Given the description of an element on the screen output the (x, y) to click on. 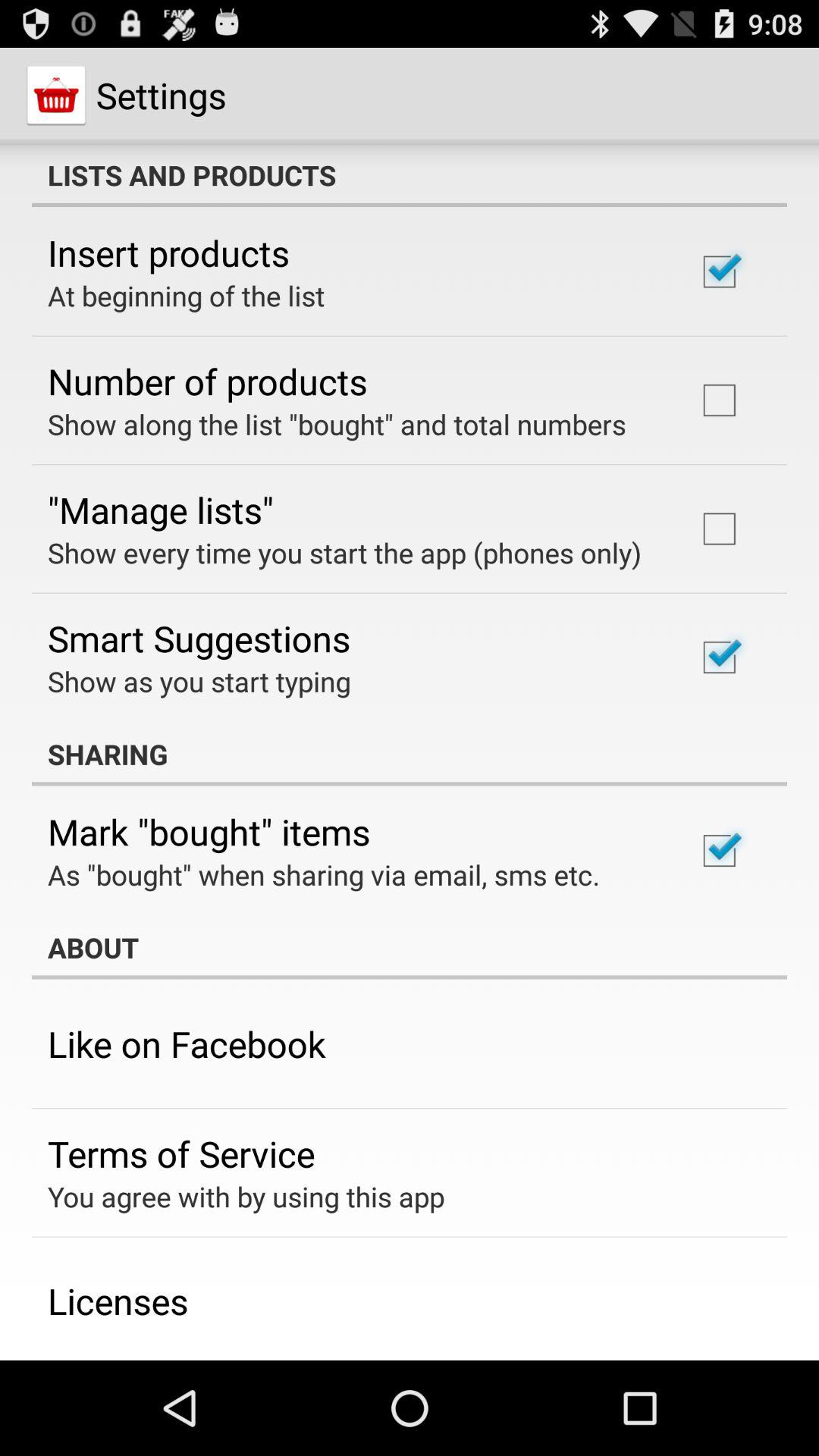
turn on icon below the you agree with icon (117, 1300)
